Given the description of an element on the screen output the (x, y) to click on. 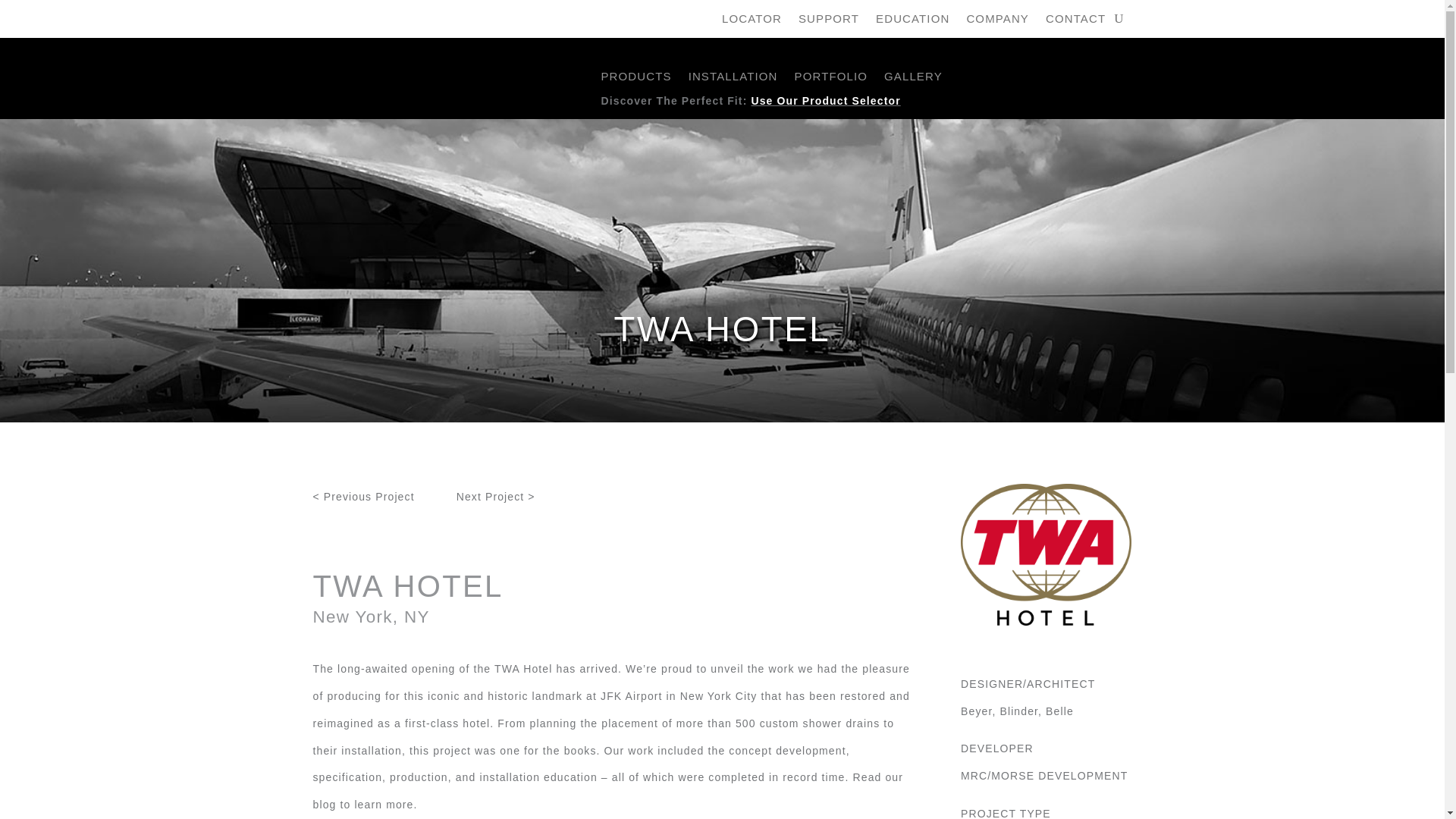
EDUCATION (912, 21)
COMPANY (997, 21)
INSTALLATION (732, 79)
CONTACT (1075, 21)
GALLERY (912, 79)
PORTFOLIO (830, 79)
SUPPORT (828, 21)
LOCATOR (751, 21)
PRODUCTS (635, 79)
